Given the description of an element on the screen output the (x, y) to click on. 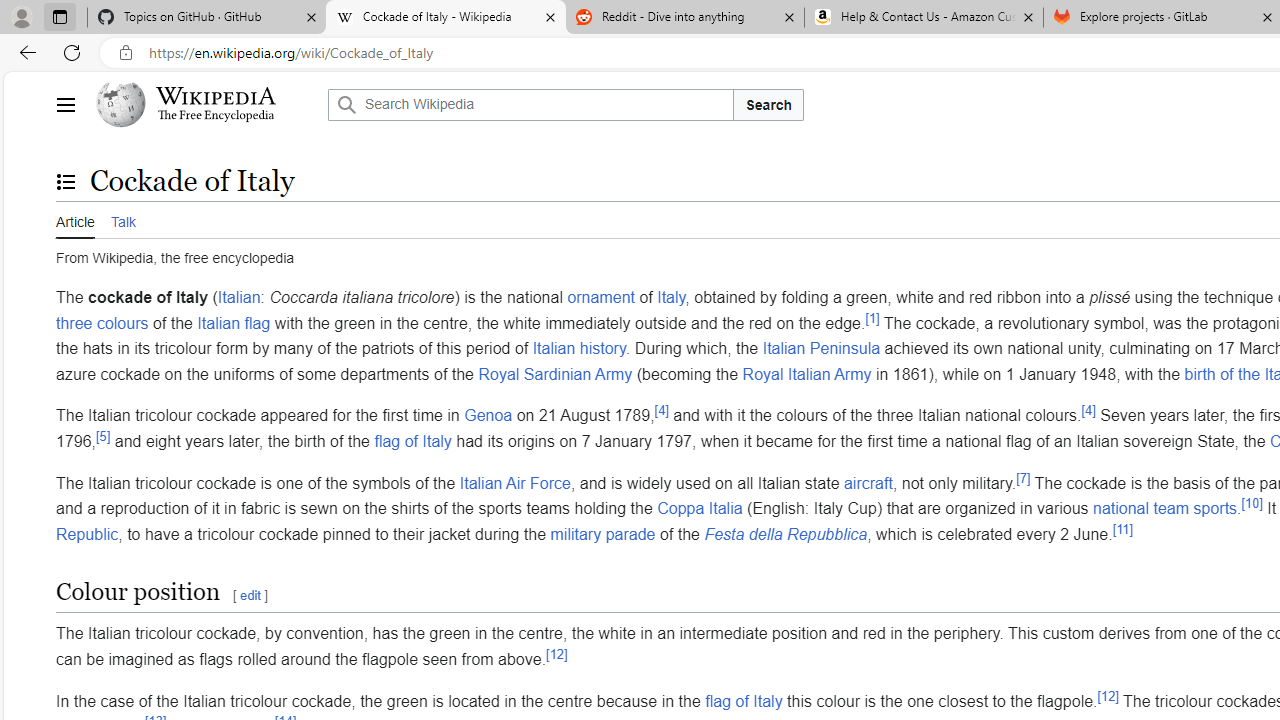
three colours (102, 322)
Italian flag (234, 322)
[4] (1088, 411)
aircraft (868, 482)
[12] (1107, 696)
Search Wikipedia (530, 104)
Help & Contact Us - Amazon Customer Service (924, 17)
[10] (1252, 503)
Italian Peninsula (820, 348)
Cockade of Italy - Wikipedia (445, 17)
Royal Italian Army (806, 374)
Back (24, 52)
Talk (122, 219)
Genoa (488, 415)
